Given the description of an element on the screen output the (x, y) to click on. 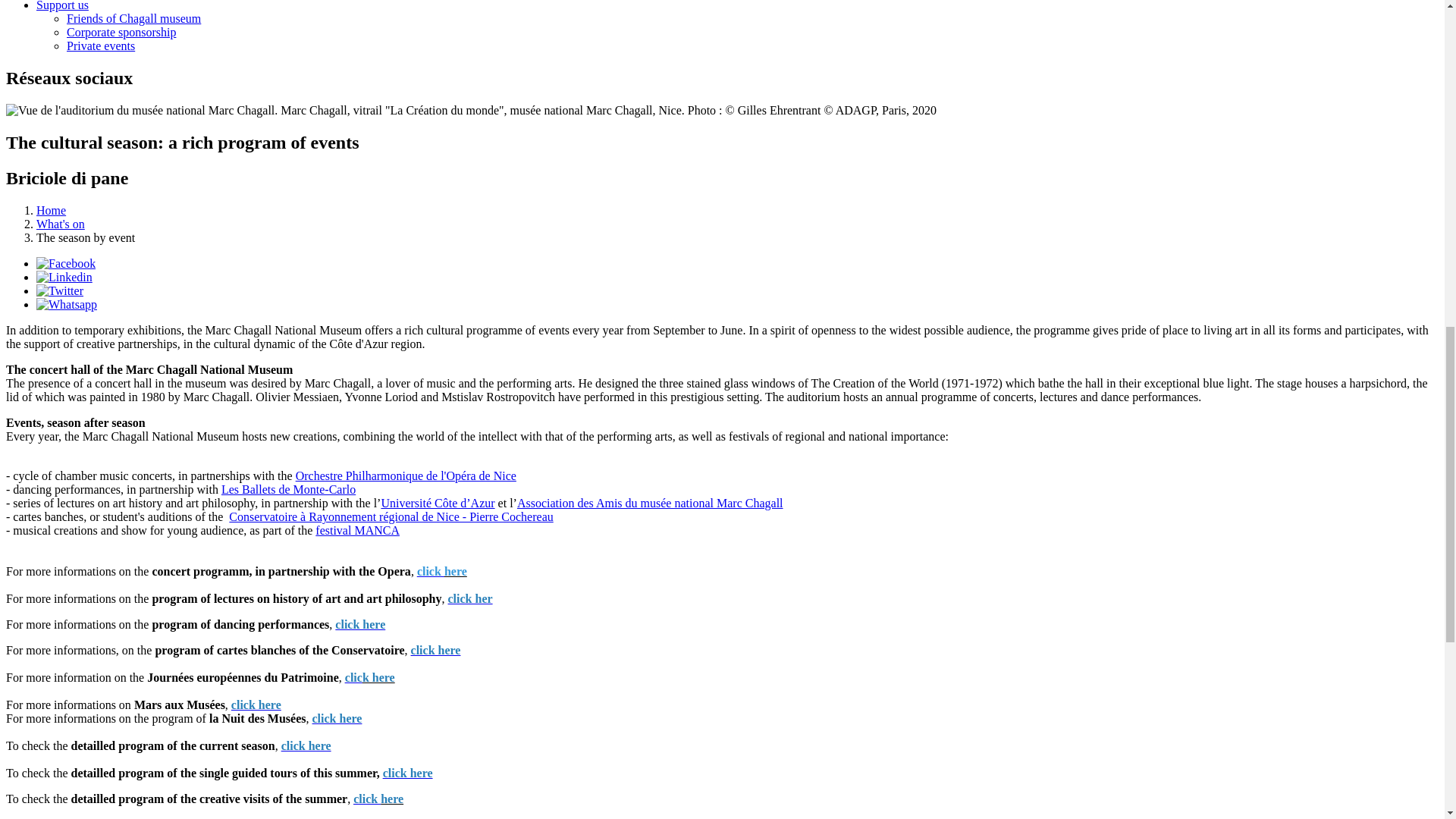
Facebook (66, 263)
Whatsapp (66, 304)
Linkedin (64, 277)
Twitter (59, 290)
